Given the description of an element on the screen output the (x, y) to click on. 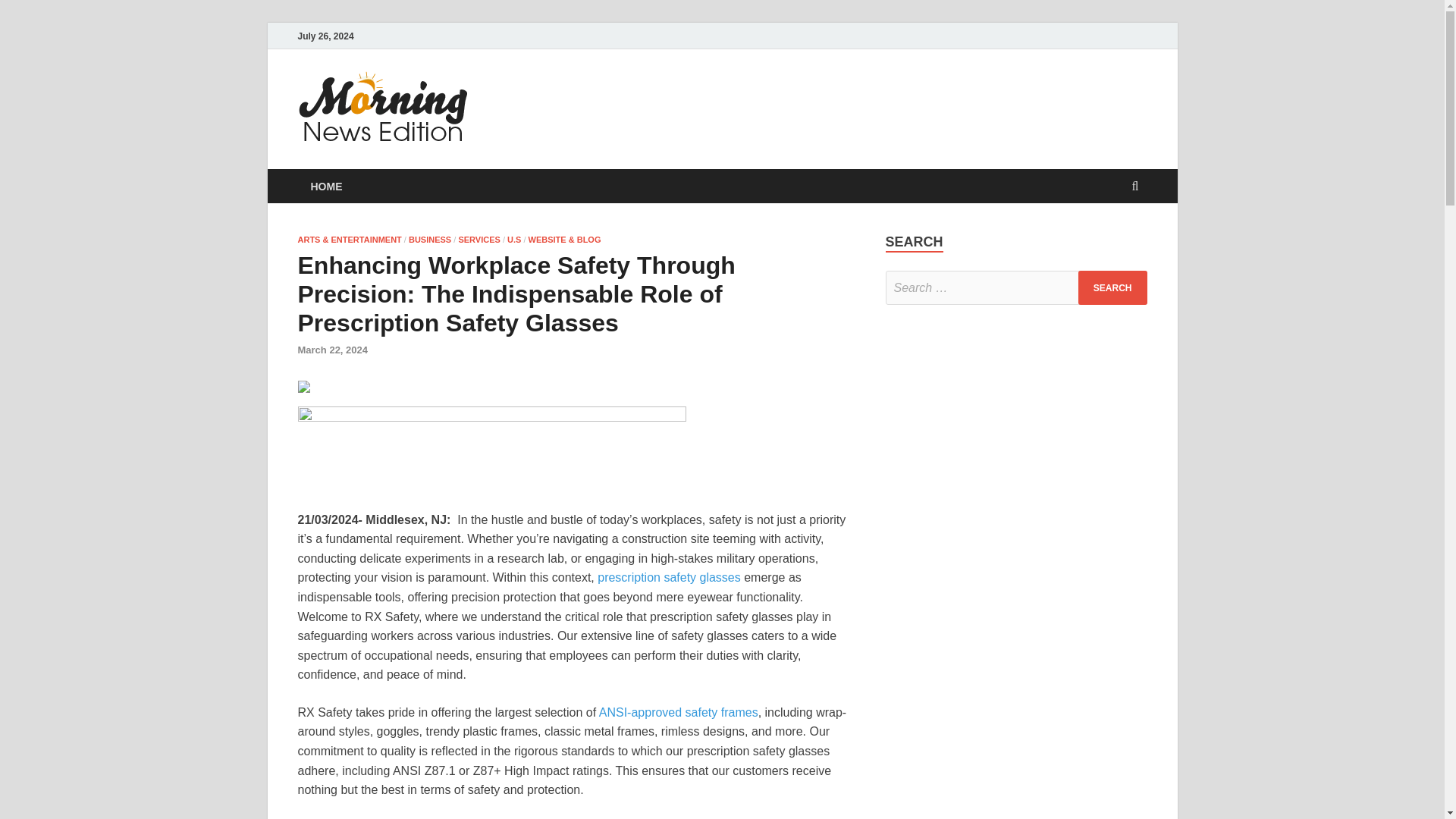
Morning News Edition (622, 100)
SERVICES (478, 239)
BUSINESS (430, 239)
Search (1112, 287)
ANSI-approved safety frames (676, 712)
Search (1112, 287)
HOME (326, 185)
U.S (513, 239)
prescription safety glasses (668, 576)
Search (1112, 287)
March 22, 2024 (332, 349)
